Given the description of an element on the screen output the (x, y) to click on. 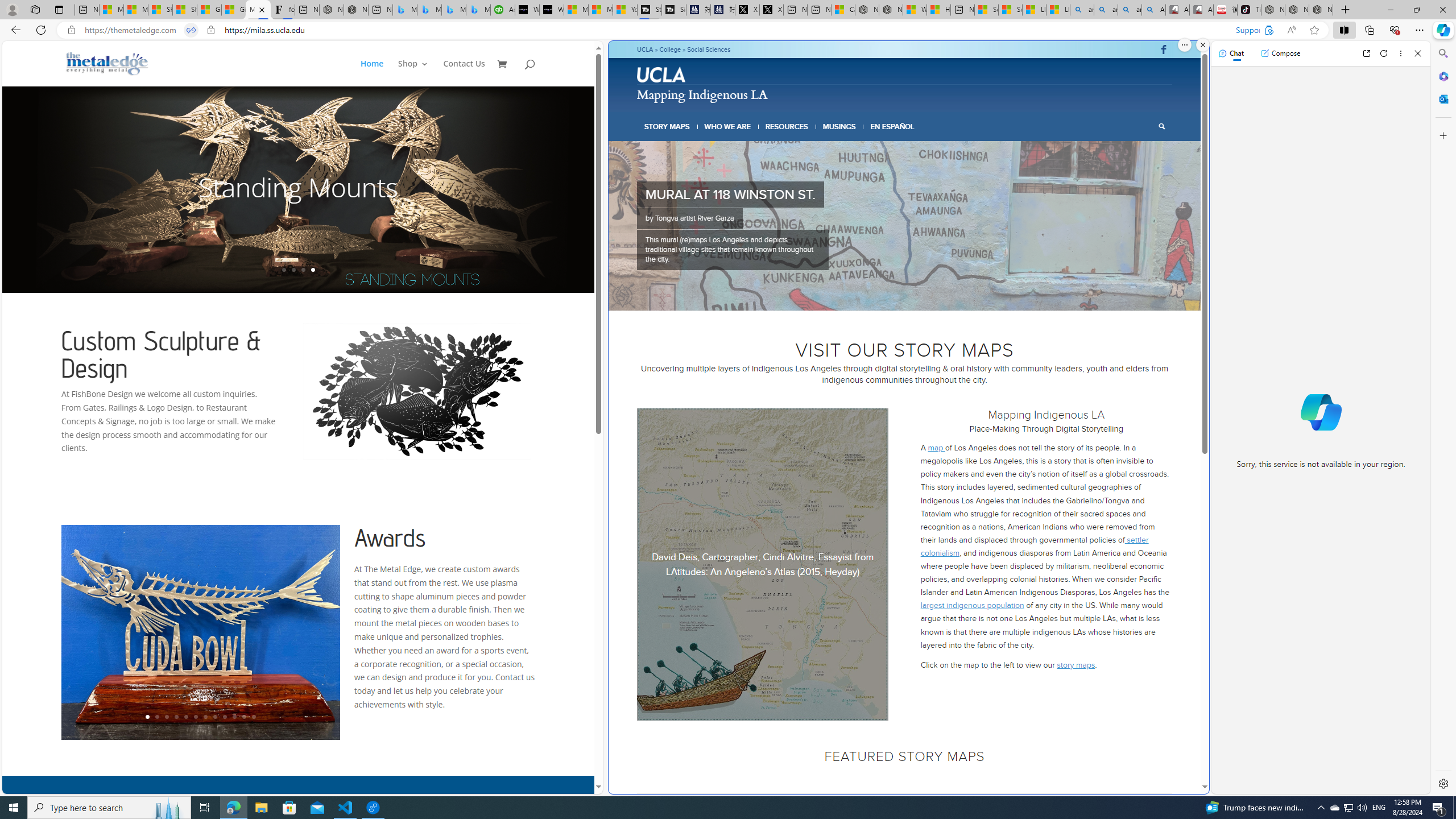
Huge shark washes ashore at New York City beach | Watch (938, 9)
MUSINGS (839, 126)
Wildlife - MSN (914, 9)
Metal Fish Sculptures & Metal Designs (106, 63)
STORY MAPS (667, 126)
Mapping Indigenous LA (258, 9)
8 (935, 296)
Metal Fish Sculptures & Metal Designs (106, 63)
6 (918, 296)
